Given the description of an element on the screen output the (x, y) to click on. 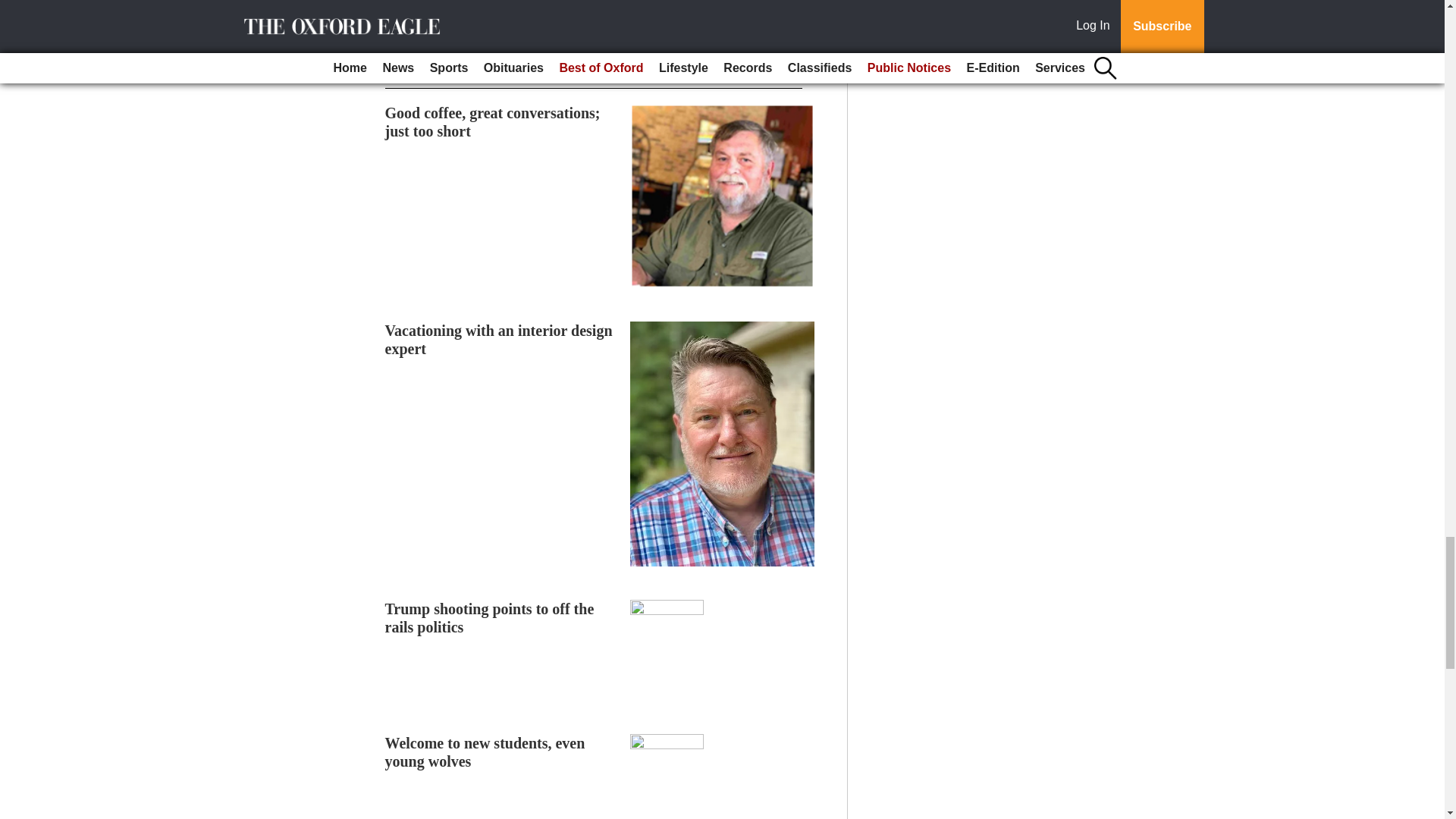
Trump shooting points to off the rails politics (489, 617)
Welcome to new students, even young wolves (485, 751)
Good coffee, great conversations; just too short (492, 121)
Vacationing with an interior design expert (498, 339)
Welcome to new students, even young wolves (485, 751)
Good coffee, great conversations; just too short (492, 121)
Vacationing with an interior design expert (498, 339)
Trump shooting points to off the rails politics (489, 617)
